Given the description of an element on the screen output the (x, y) to click on. 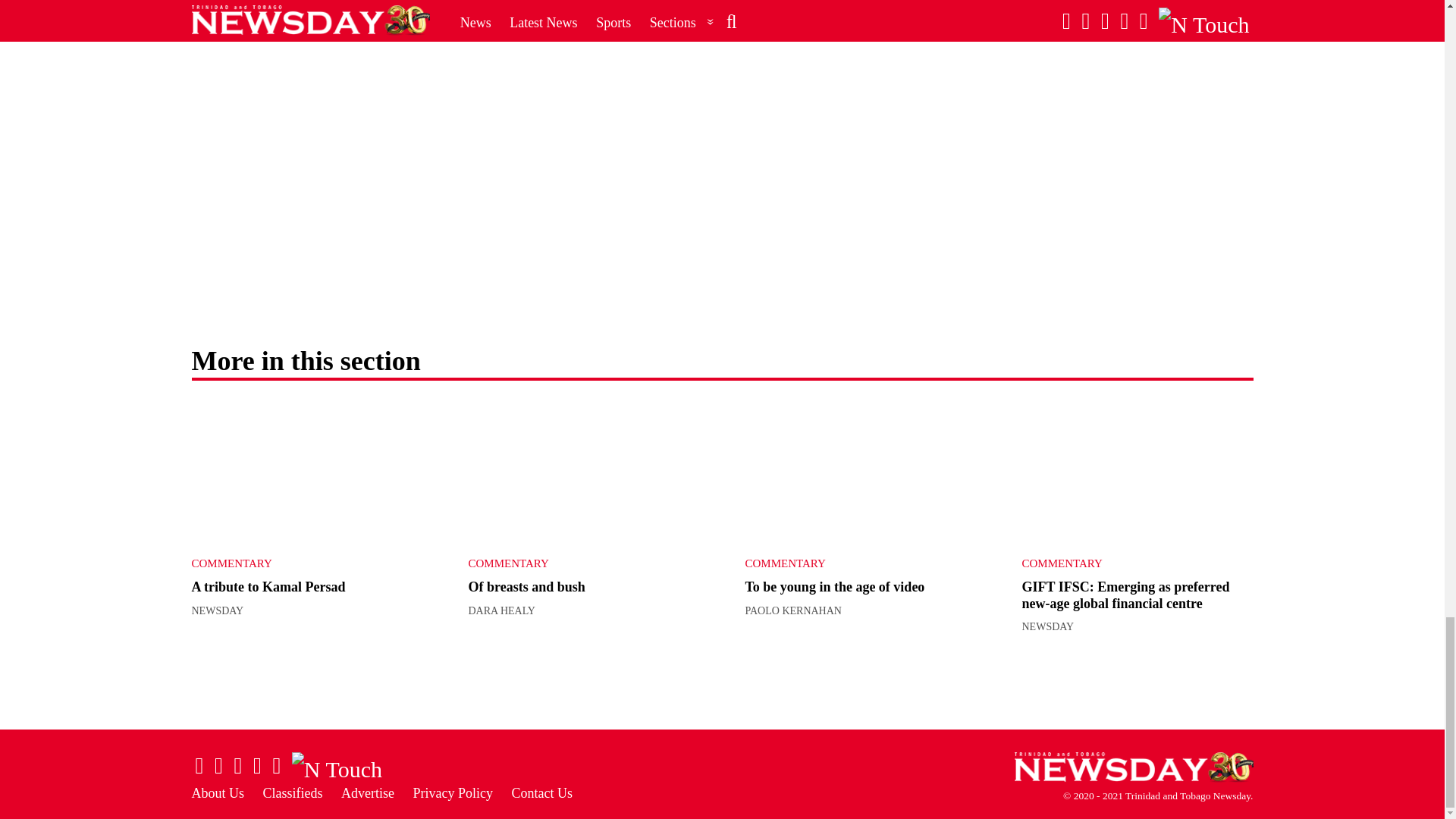
To be young in the age of video (859, 471)
A tribute to Kamal Persad (306, 471)
COMMENTARY (294, 563)
A tribute to Kamal Persad (267, 586)
Of breasts and bush (584, 471)
